Given the description of an element on the screen output the (x, y) to click on. 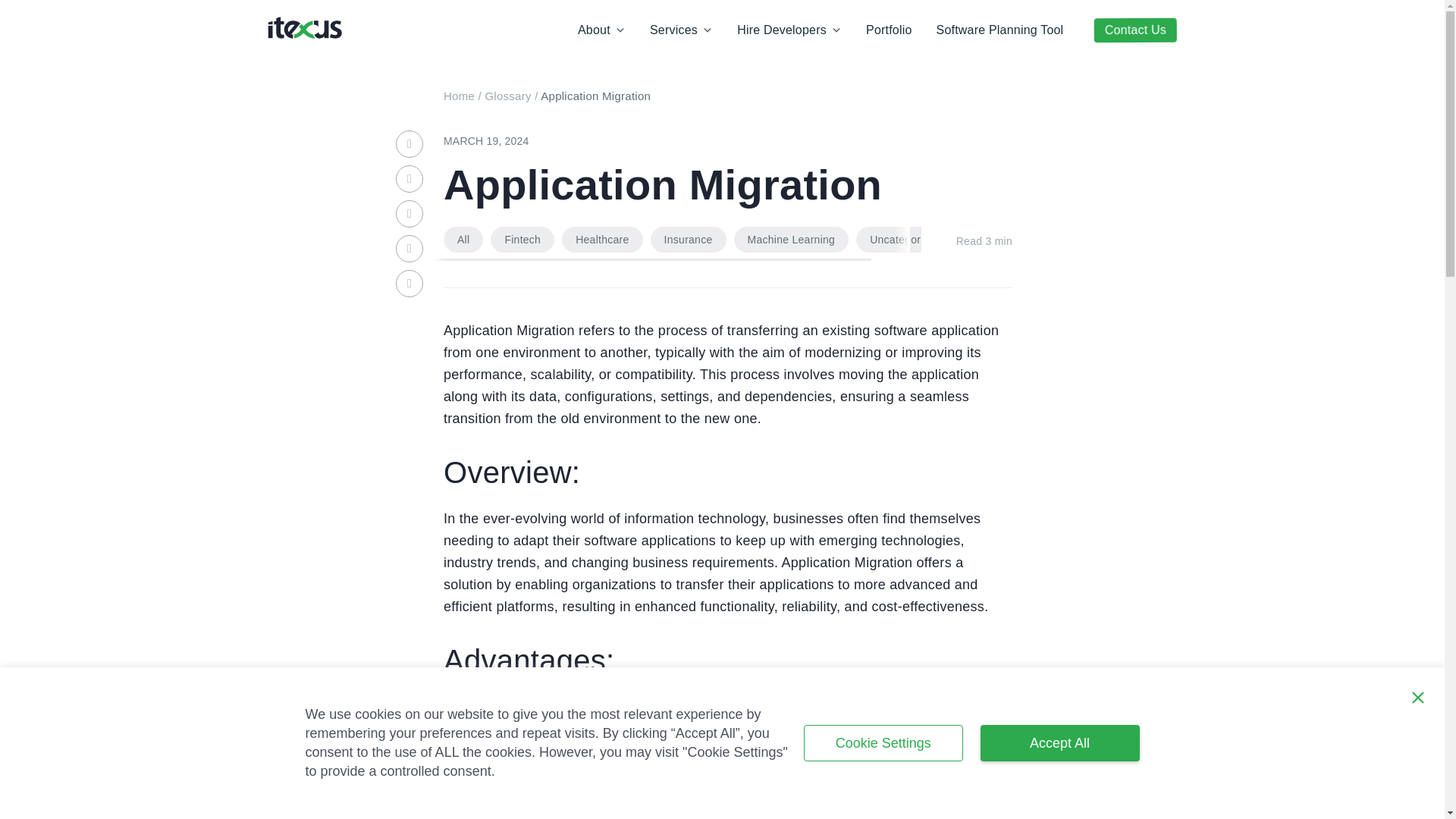
About (601, 30)
Contact Us (1135, 30)
Software Planning Tool (999, 30)
Share in Reddit (409, 248)
Portfolio (888, 30)
Hire Developers (789, 30)
Services (681, 30)
Share in Facebook (409, 178)
Copy to Clipboard (409, 283)
Share in Linkedin (409, 144)
